Given the description of an element on the screen output the (x, y) to click on. 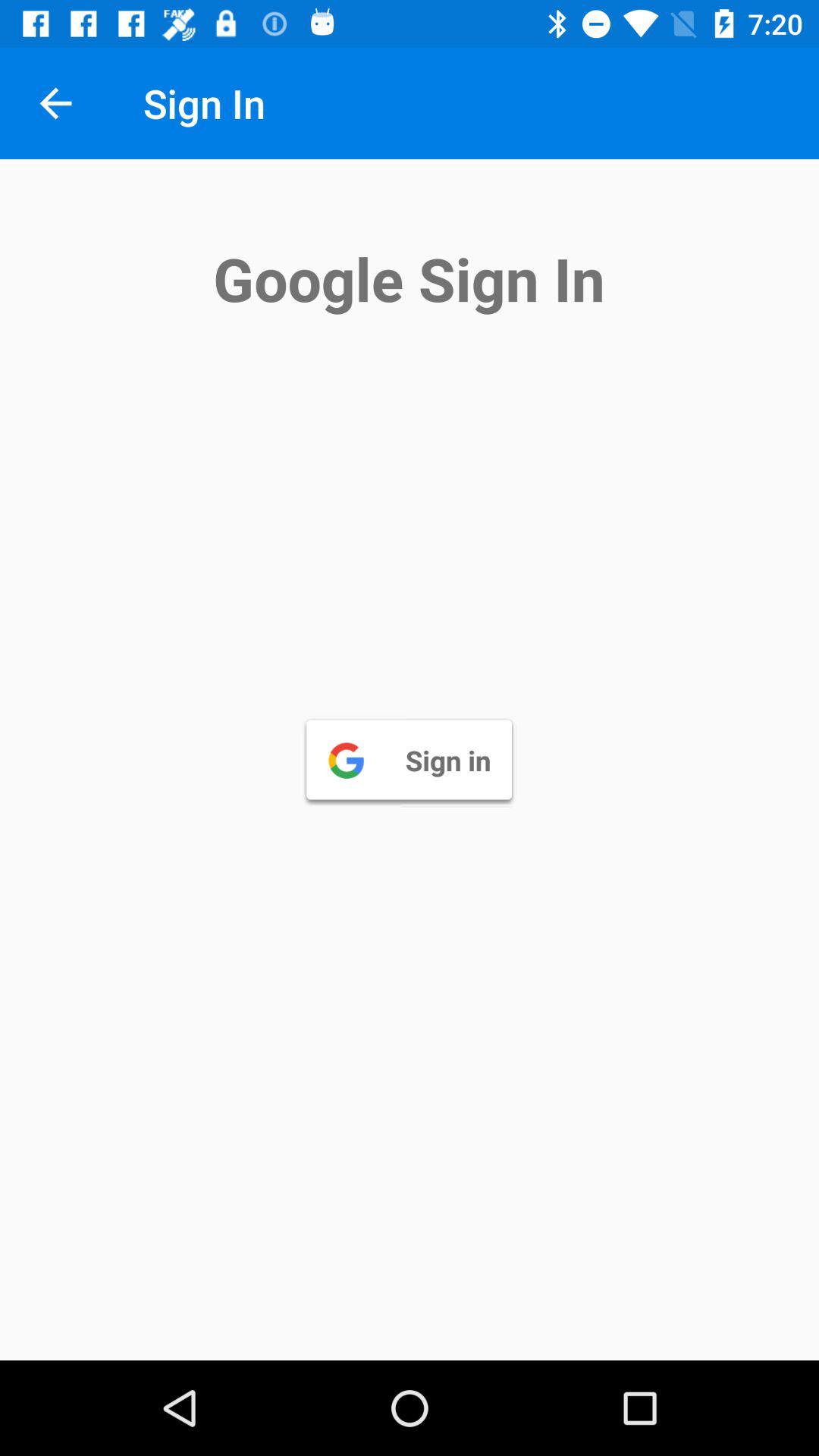
tap item to the left of sign in icon (55, 103)
